Given the description of an element on the screen output the (x, y) to click on. 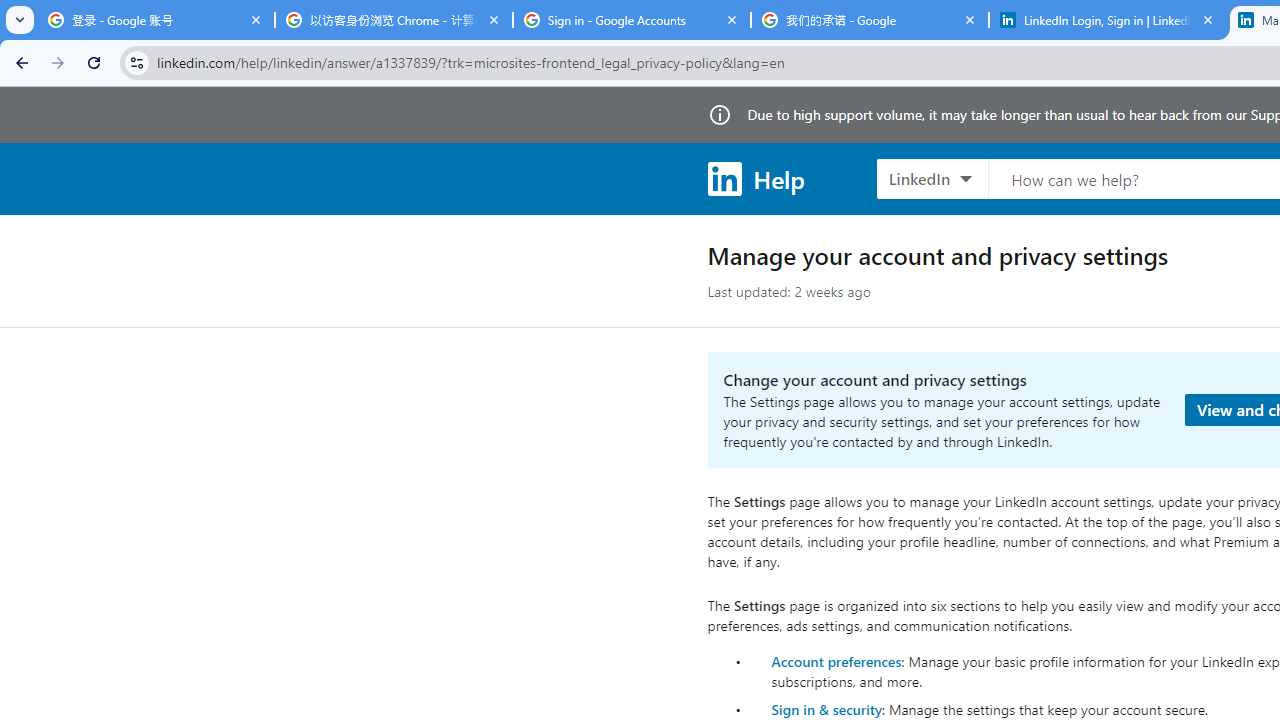
Sign in - Google Accounts (632, 20)
